Given the description of an element on the screen output the (x, y) to click on. 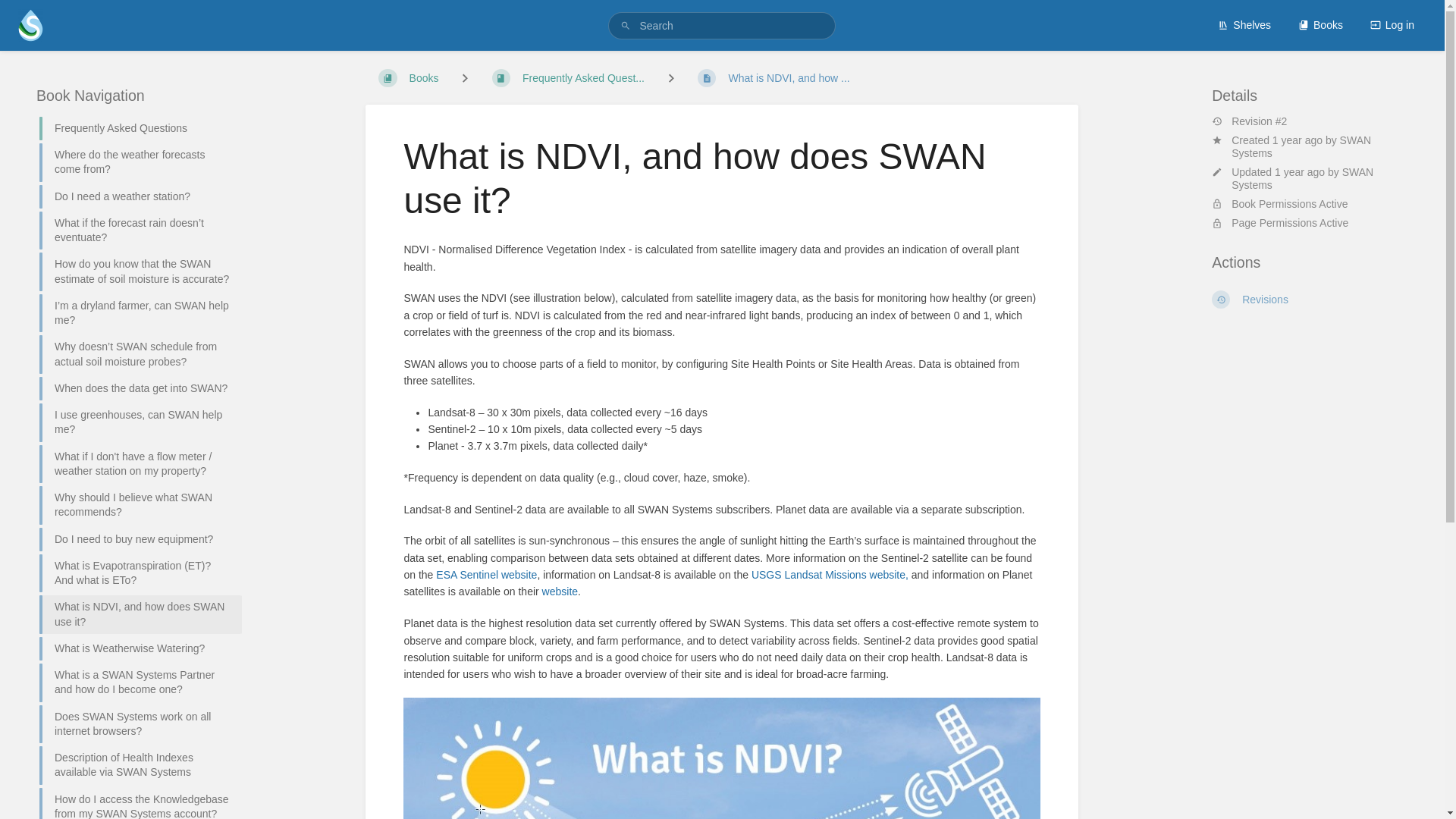
ESA Sentinel website (486, 574)
Tue, Feb 21, 2023 9:56 AM (1297, 140)
What is a SWAN Systems Partner and how do I become one? (134, 682)
What is NDVI, and how ... (772, 77)
What is NDVI, and how does SWAN use it? (134, 614)
Log in (1392, 24)
Shelves (1243, 24)
What is Weatherwise Watering? (134, 648)
I use greenhouses, can SWAN help me? (134, 422)
Where do the weather forecasts come from? (134, 162)
